Given the description of an element on the screen output the (x, y) to click on. 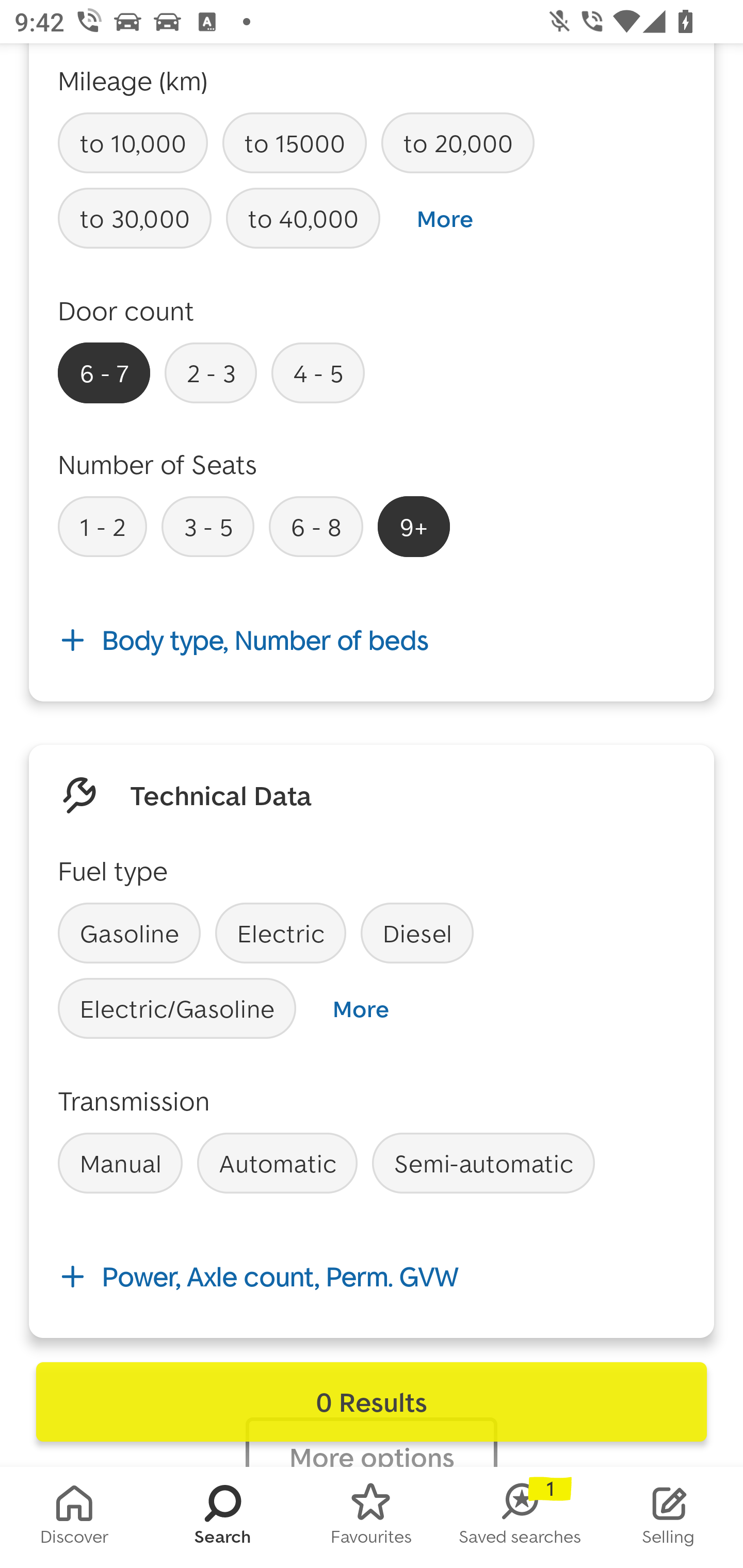
Mileage (km) (132, 79)
to 10,000 (132, 143)
to 15000 (294, 143)
to 20,000 (457, 143)
to 30,000 (134, 218)
to 40,000 (302, 218)
More (444, 218)
Door count (125, 310)
6 - 7 (103, 371)
2 - 3 (210, 371)
4 - 5 (317, 371)
Number of Seats (157, 463)
1 - 2 (102, 525)
3 - 5 (207, 525)
6 - 8 (315, 525)
9+ (413, 525)
Body type, Number of beds (371, 640)
Technical Data (221, 794)
Fuel type (112, 869)
Gasoline (128, 932)
Electric (280, 932)
Diesel (417, 932)
Electric/Gasoline (176, 1008)
More (360, 1008)
Transmission (133, 1100)
Manual (119, 1162)
Automatic (276, 1162)
Semi-automatic (483, 1162)
Power, Axle count, Perm. GVW (371, 1276)
0 Results (371, 1401)
HOMESCREEN Discover (74, 1517)
SEARCH Search (222, 1517)
FAVORITES Favourites (371, 1517)
SAVED_SEARCHES Saved searches 1 (519, 1517)
STOCK_LIST Selling (668, 1517)
